Given the description of an element on the screen output the (x, y) to click on. 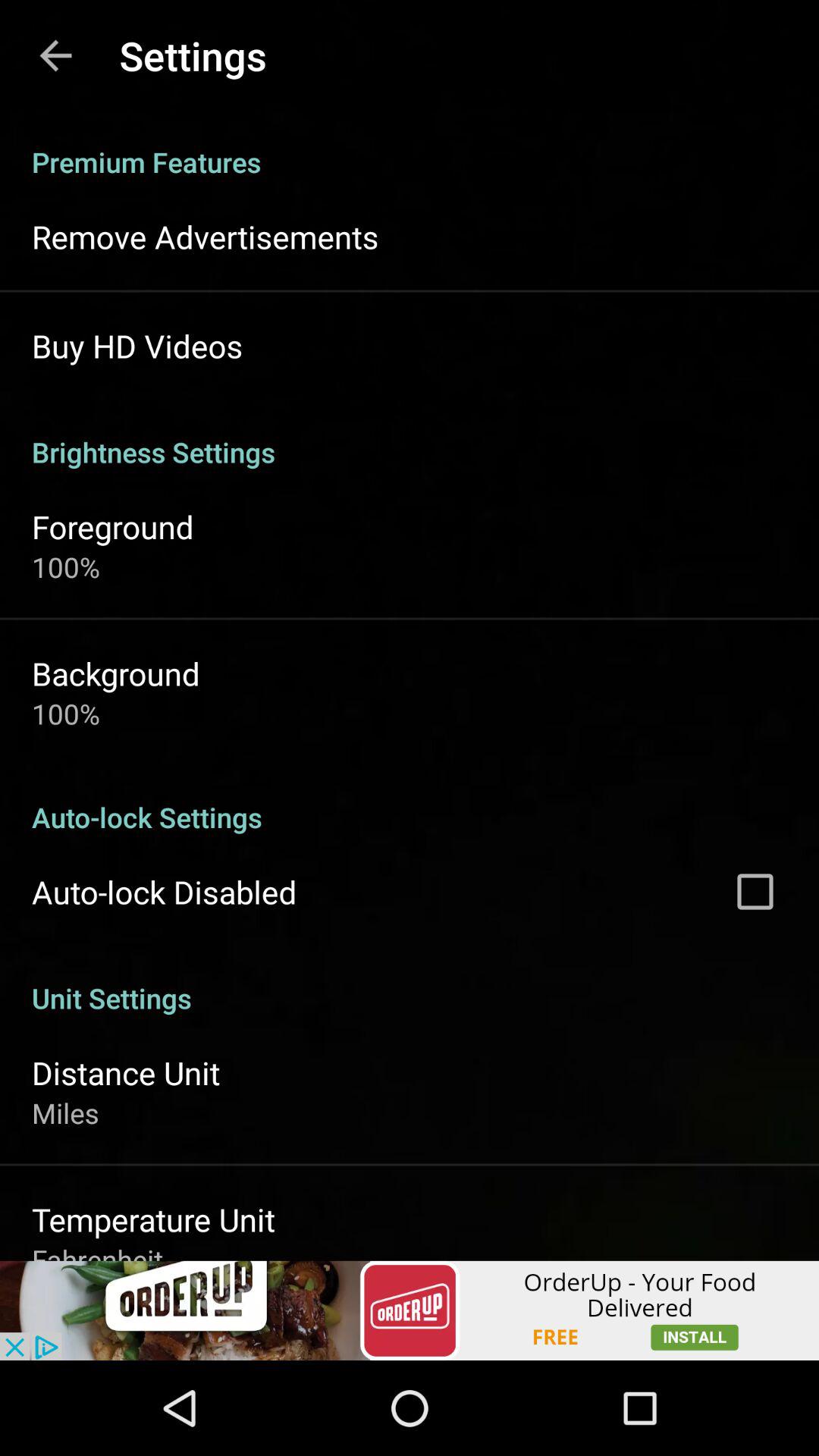
advertisement (409, 1310)
